Given the description of an element on the screen output the (x, y) to click on. 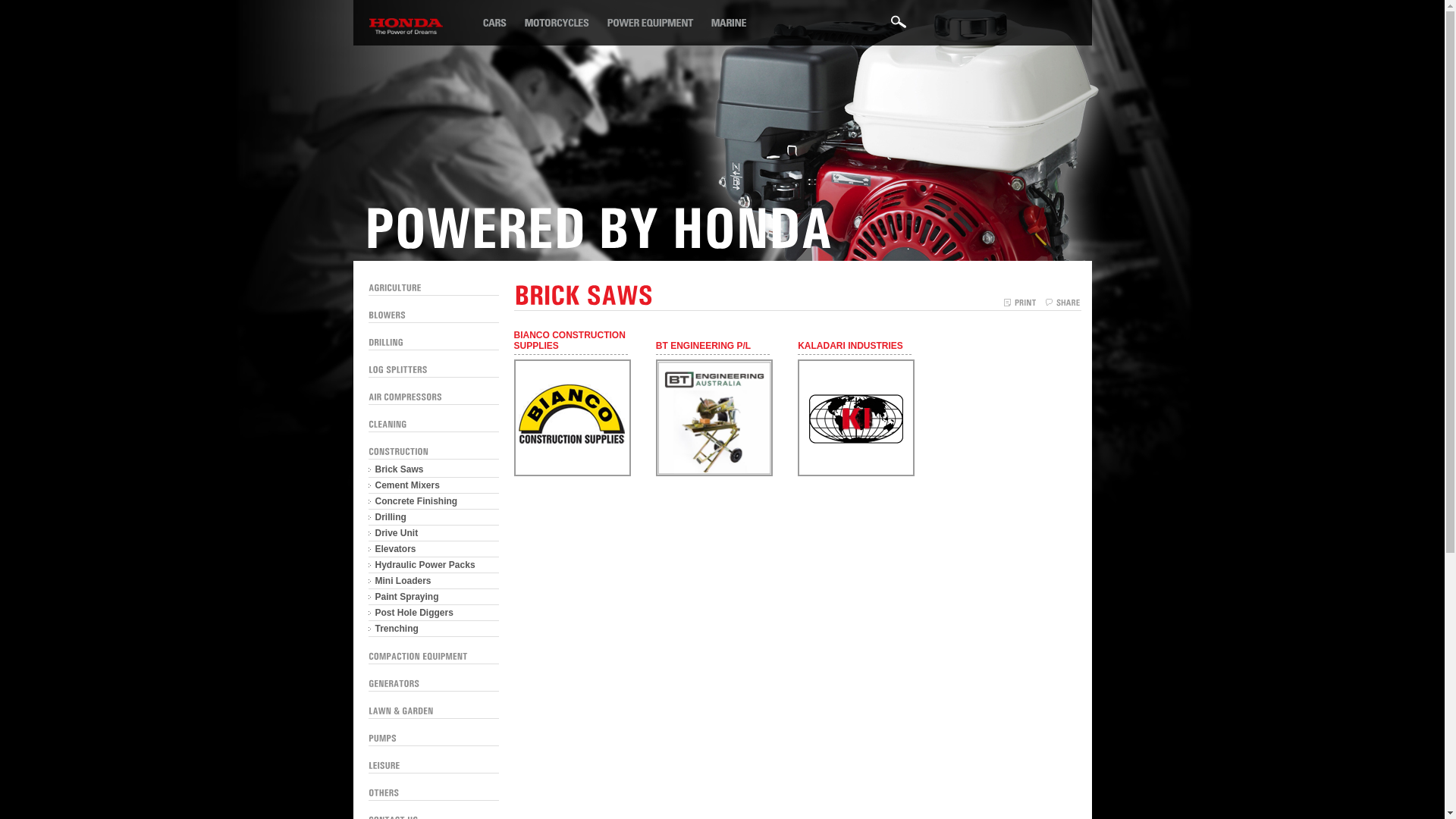
Elevators Element type: text (433, 549)
BIANCO CONSTRUCTION SUPPLIES Element type: text (570, 341)
AIR COMPRESSORS Element type: text (405, 396)
Marine Element type: text (735, 21)
Home Element type: text (499, 21)
Drive Unit Element type: text (433, 533)
BIANCO CONSTRUCTION SUPPLIES Element type: hover (577, 472)
BT ENGINEERING P/L Element type: text (712, 347)
BLOWERS Element type: text (386, 314)
Motorcycles Element type: text (562, 21)
Trenching Element type: text (433, 629)
Search Element type: hover (898, 26)
Cement Mixers Element type: text (433, 485)
Share Element type: text (1062, 302)
GENERATORS Element type: text (393, 682)
Drilling Element type: text (433, 517)
DRILLING Element type: text (385, 341)
CONSTRUCTION Element type: text (398, 450)
LOG SPLITTERS Element type: text (397, 369)
KALADARI INDUSTRIES Element type: hover (860, 472)
BT ENGINEERING P/L Element type: hover (718, 472)
Paint Spraying Element type: text (433, 597)
Mini Loaders Element type: text (433, 581)
Print Element type: text (1019, 302)
KALADARI INDUSTRIES Element type: text (854, 347)
Concrete Finishing Element type: text (433, 501)
Hydraulic Power Packs Element type: text (433, 565)
COMPACTION EQUIPMENT Element type: text (417, 655)
Brick Saws Element type: text (433, 469)
POWERED BY HONDA Element type: text (597, 225)
Post Hole Diggers Element type: text (433, 613)
Power Equipment Element type: text (657, 21)
